Given the description of an element on the screen output the (x, y) to click on. 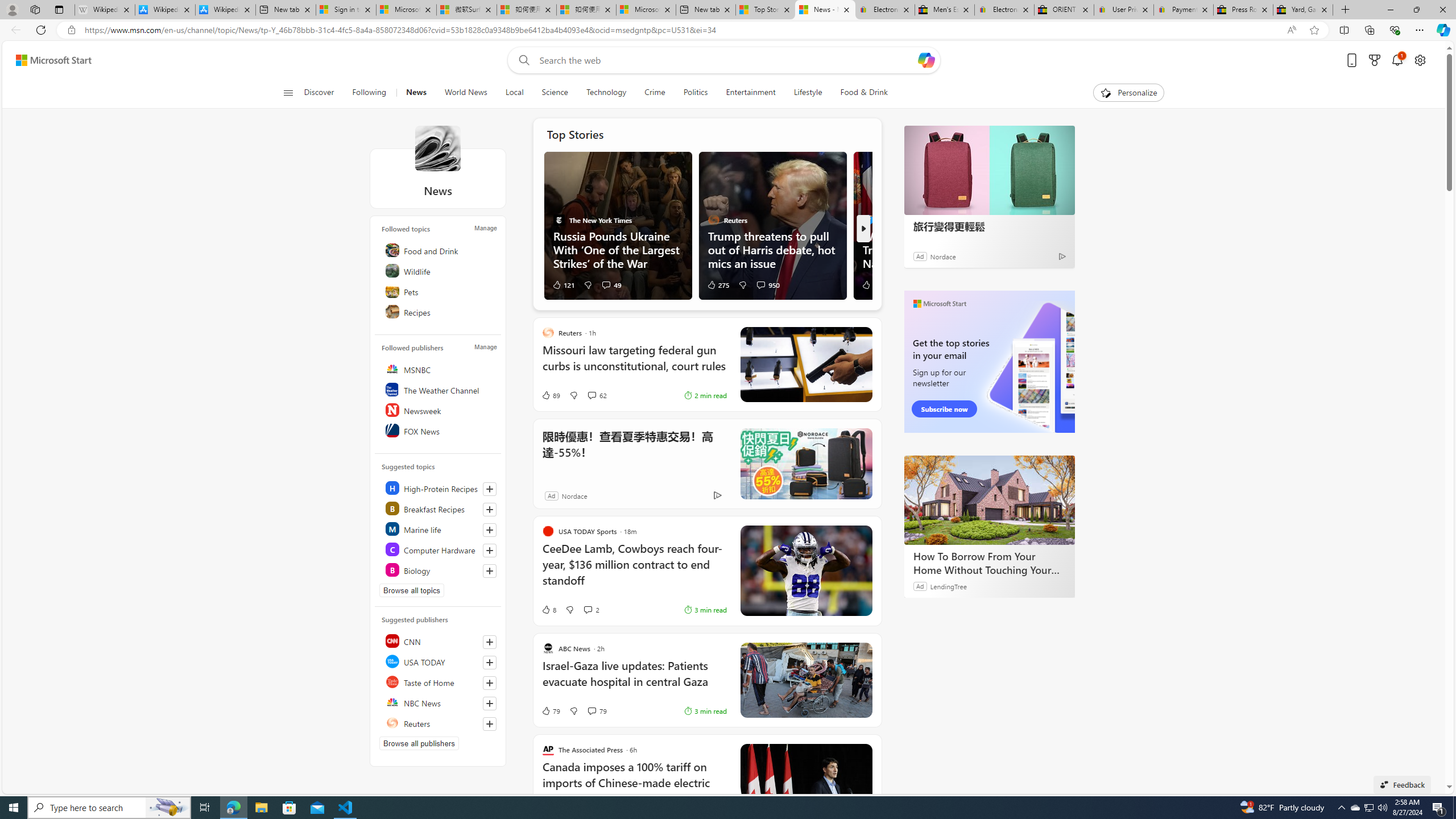
Manage (485, 346)
Lifestyle (807, 92)
How To Borrow From Your Home Without Touching Your Mortgage (988, 562)
Follow this source (489, 723)
View comments 49 Comment (606, 284)
Microsoft Services Agreement (406, 9)
Lifestyle (807, 92)
View comments 62 Comment (596, 395)
